Given the description of an element on the screen output the (x, y) to click on. 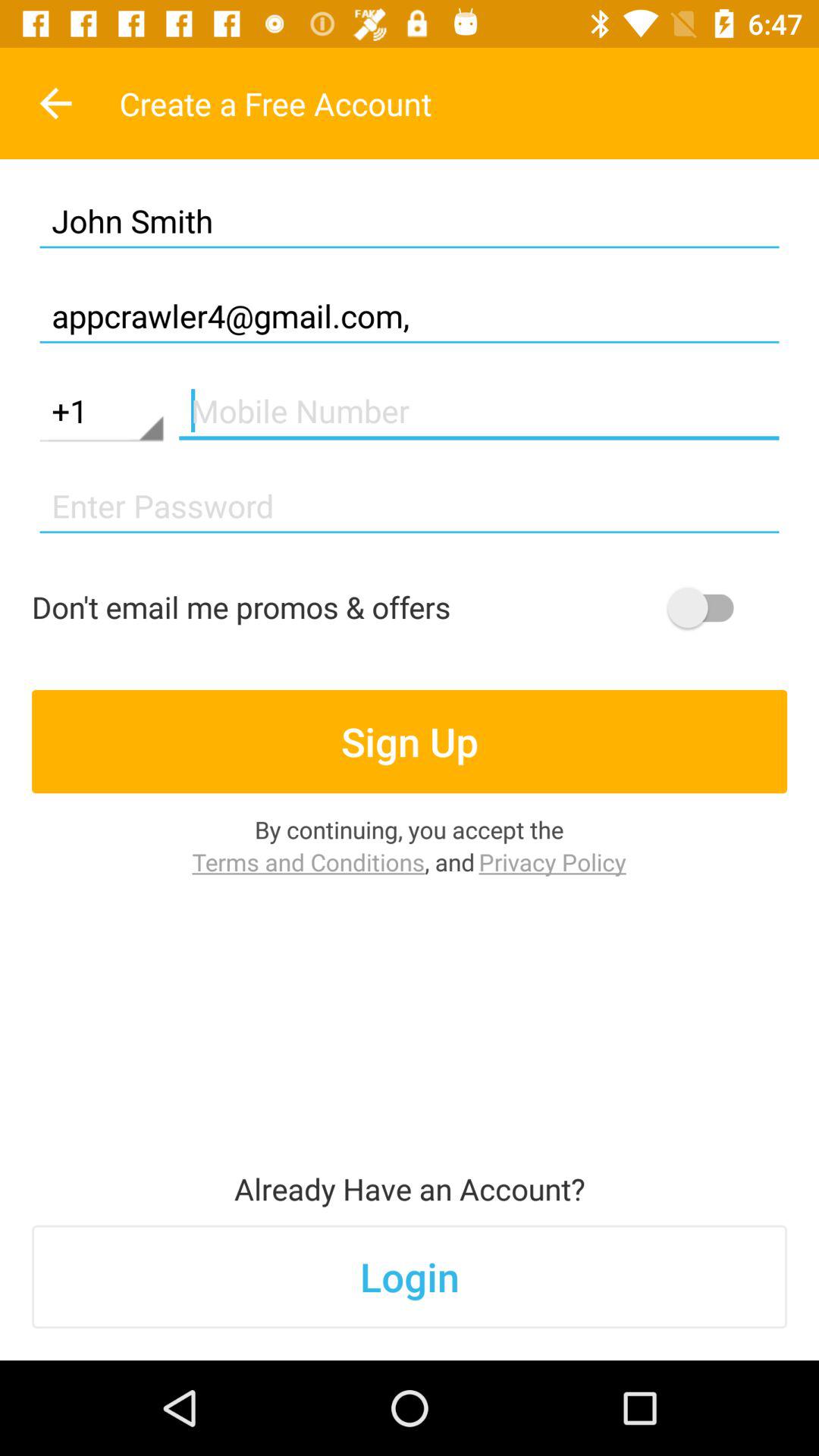
enter text (479, 411)
